Given the description of an element on the screen output the (x, y) to click on. 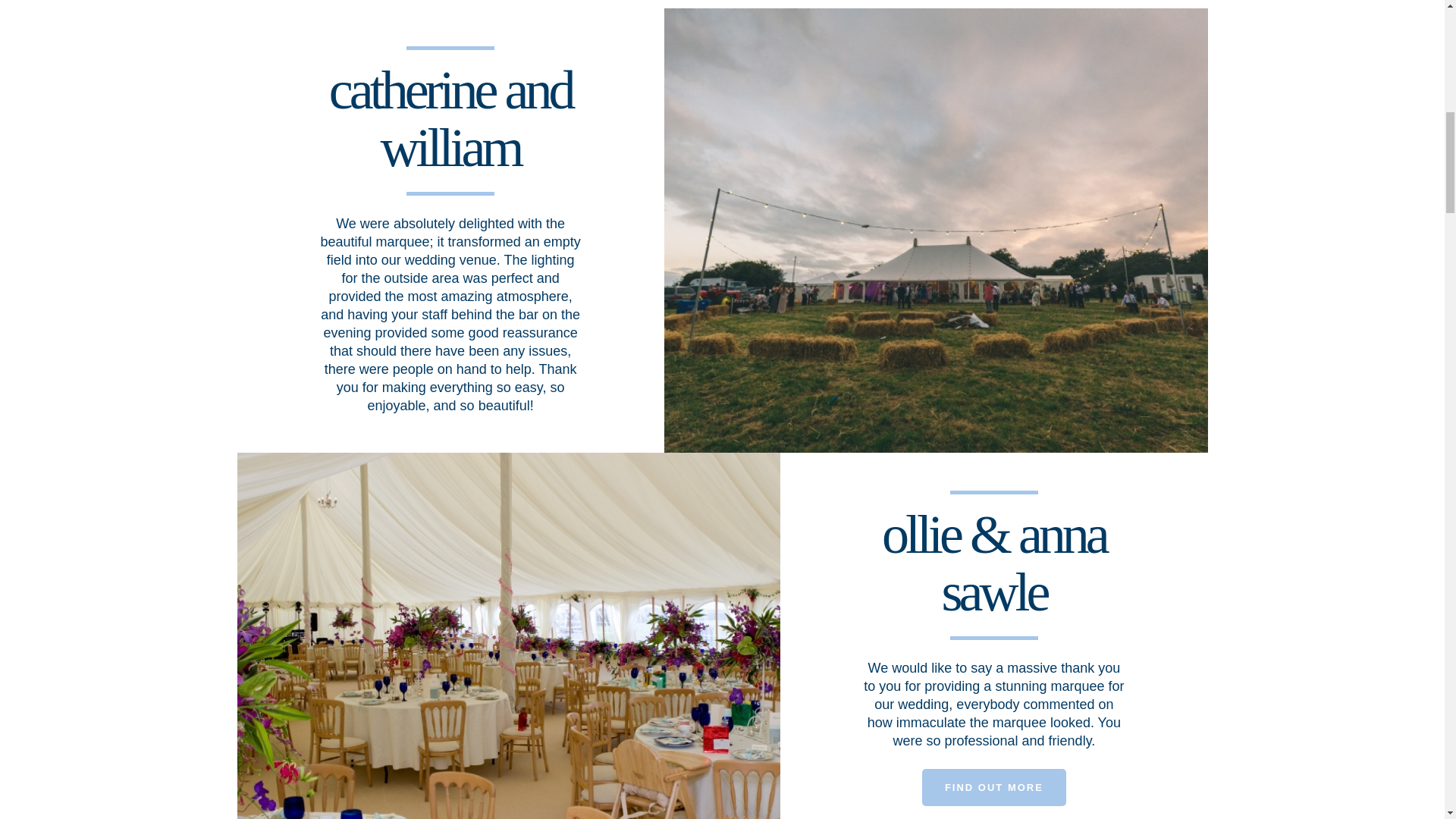
FIND OUT MORE (993, 787)
